Given the description of an element on the screen output the (x, y) to click on. 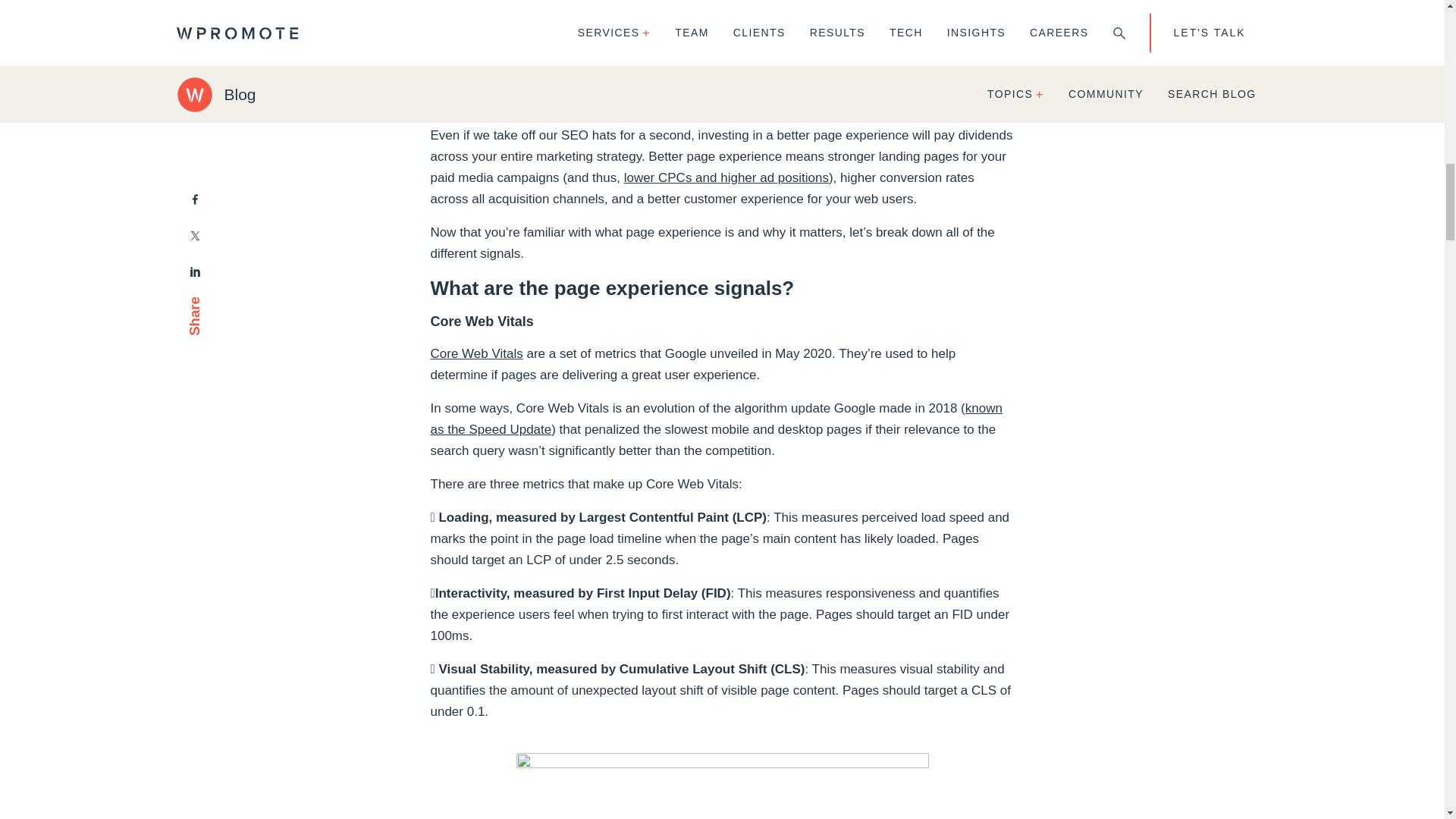
known as the Speed Update (716, 418)
lower CPCs and higher ad positions (726, 177)
Core Web Vitals (476, 353)
